Given the description of an element on the screen output the (x, y) to click on. 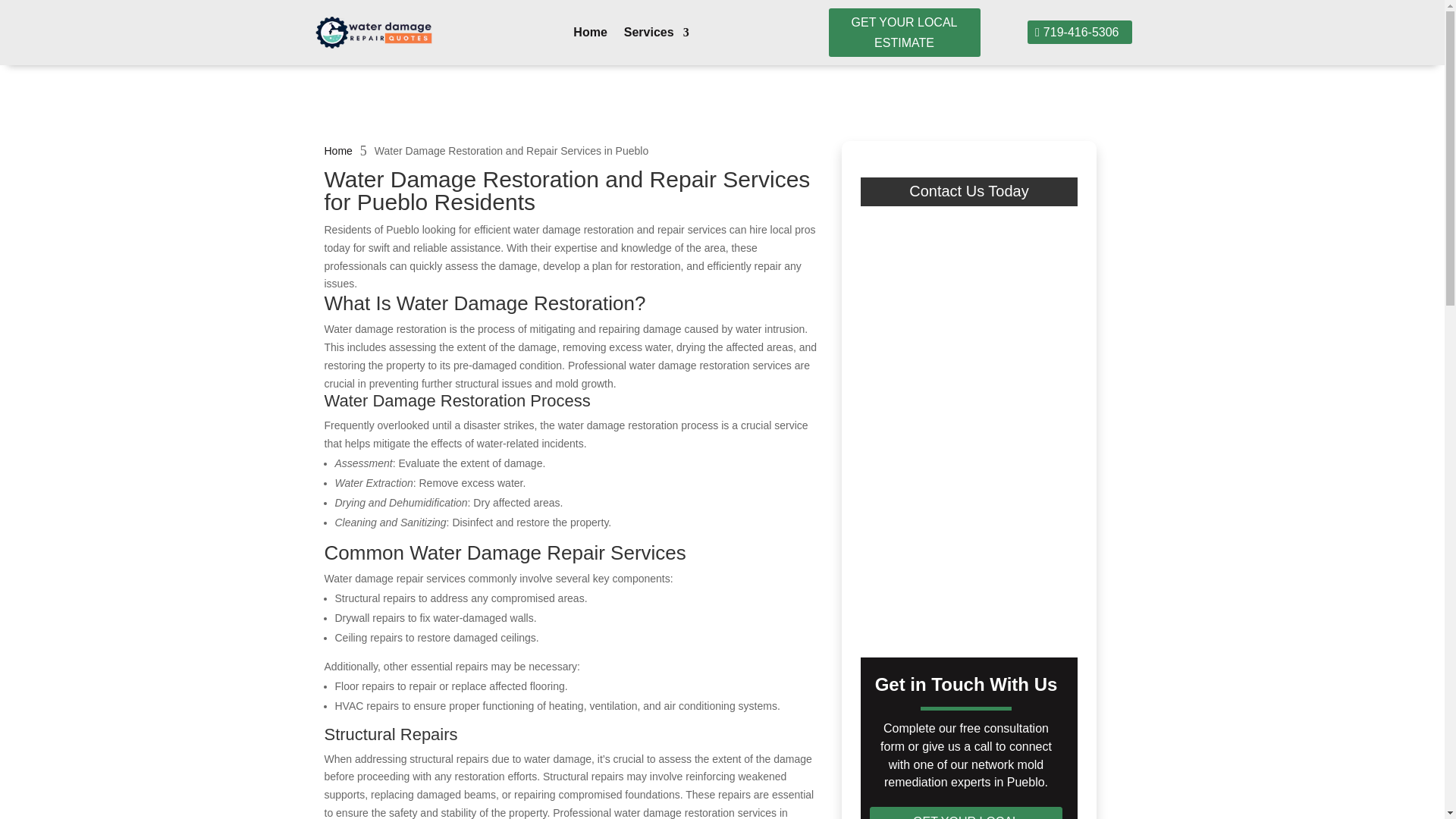
719-416-5306 (1079, 32)
theme-builder-O5Ip7jbfxNyd1P2W (373, 32)
GET YOUR LOCAL ESTIMATE (965, 812)
Home (338, 150)
Services (656, 35)
GET YOUR LOCAL ESTIMATE (903, 32)
Home (590, 35)
